Given the description of an element on the screen output the (x, y) to click on. 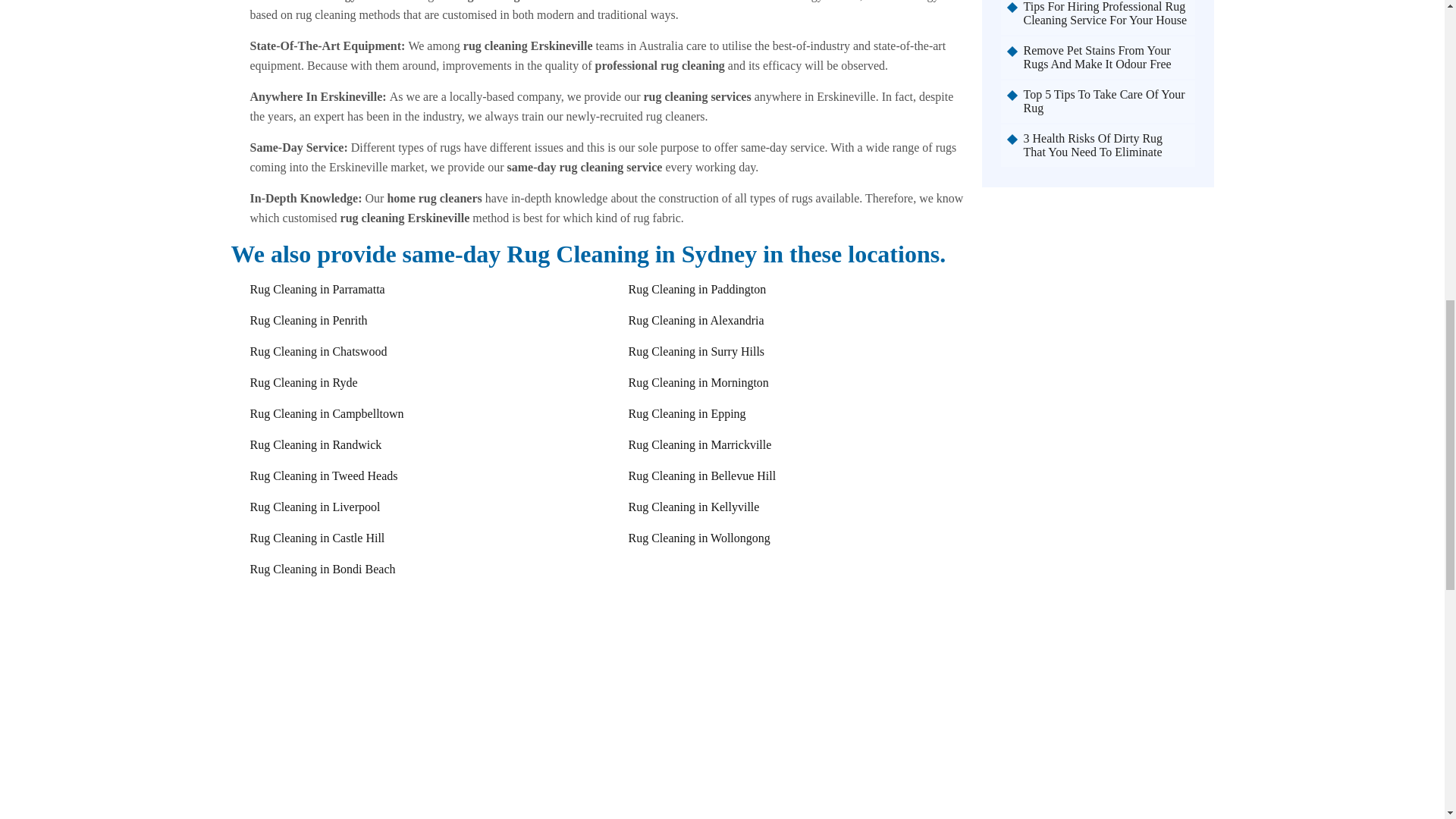
Rug Cleaning in Alexandria (694, 319)
Rug Cleaning in Ryde (304, 382)
Rug Cleaning in Campbelltown (327, 413)
Rug Cleaning in Tweed Heads (323, 475)
Rug Cleaning in Liverpool (315, 506)
Rug Cleaning in Paddington (696, 288)
Rug Cleaning in Randwick (315, 444)
Rug Cleaning in Chatswood (318, 350)
Rug Cleaning in Bondi Beach (323, 568)
Rug Cleaning in Penrith (309, 319)
